Given the description of an element on the screen output the (x, y) to click on. 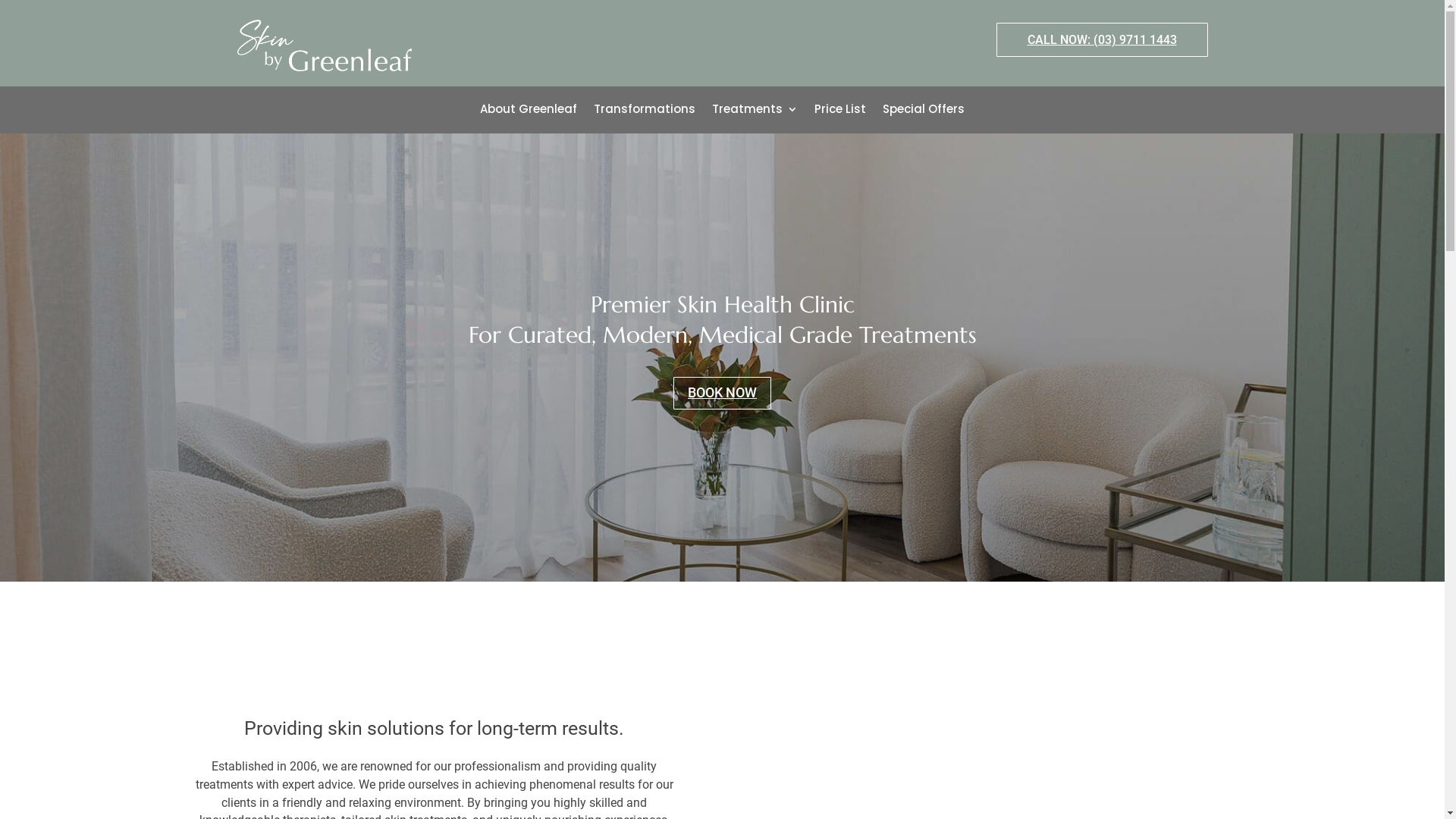
Price List Element type: text (840, 111)
BOOK NOW Element type: text (722, 392)
About Greenleaf Element type: text (528, 111)
CALL NOW: (03) 9711 1443 Element type: text (1102, 39)
02WHITE-LOGO_Skin-by-Greenleaf Element type: hover (323, 45)
Special Offers Element type: text (923, 111)
Treatments Element type: text (754, 111)
Transformations Element type: text (644, 111)
